Given the description of an element on the screen output the (x, y) to click on. 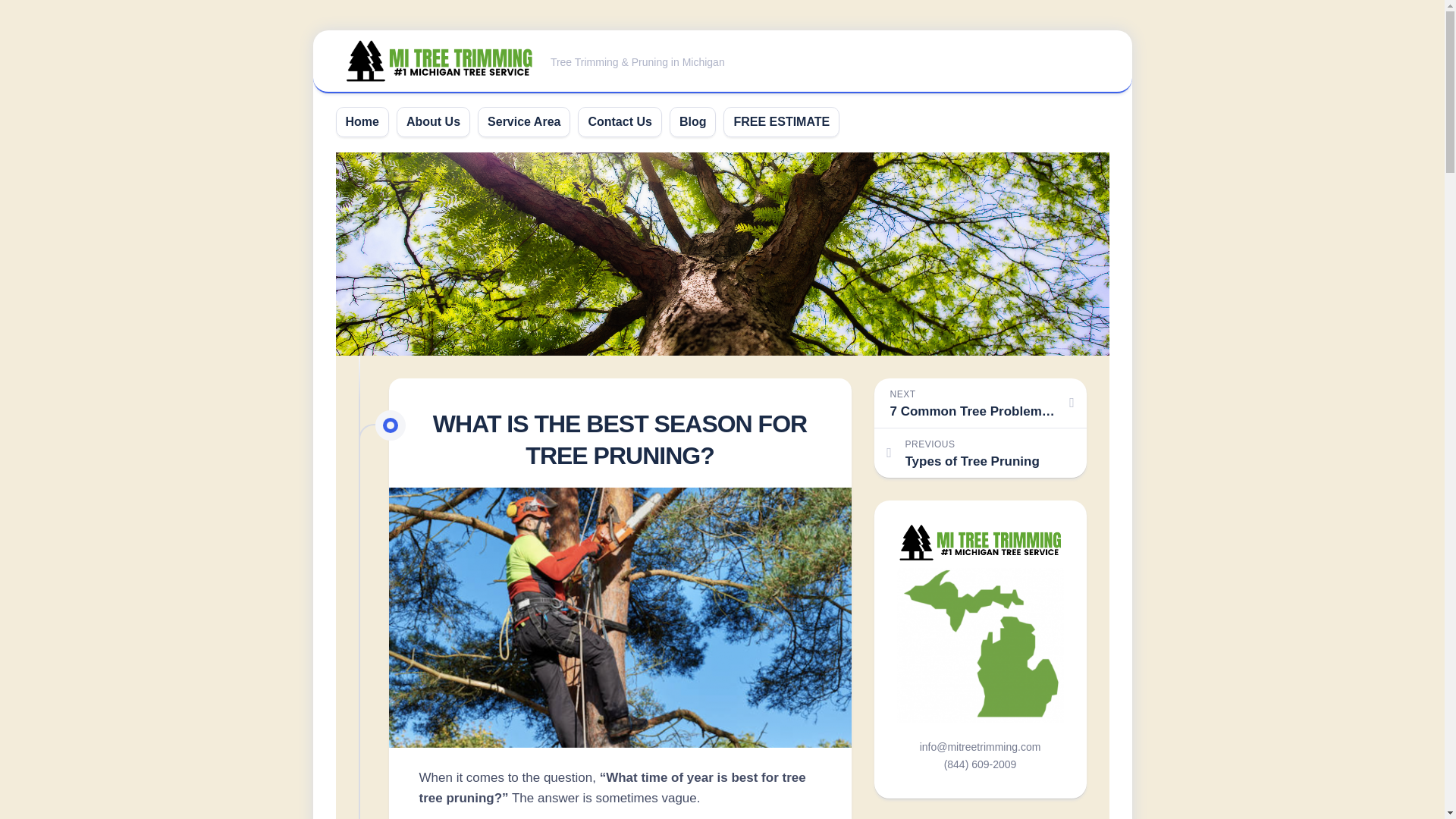
Home (362, 121)
Contact Us (619, 121)
Blog (692, 121)
FREE ESTIMATE (781, 121)
Service Area (979, 452)
About Us (523, 121)
